Given the description of an element on the screen output the (x, y) to click on. 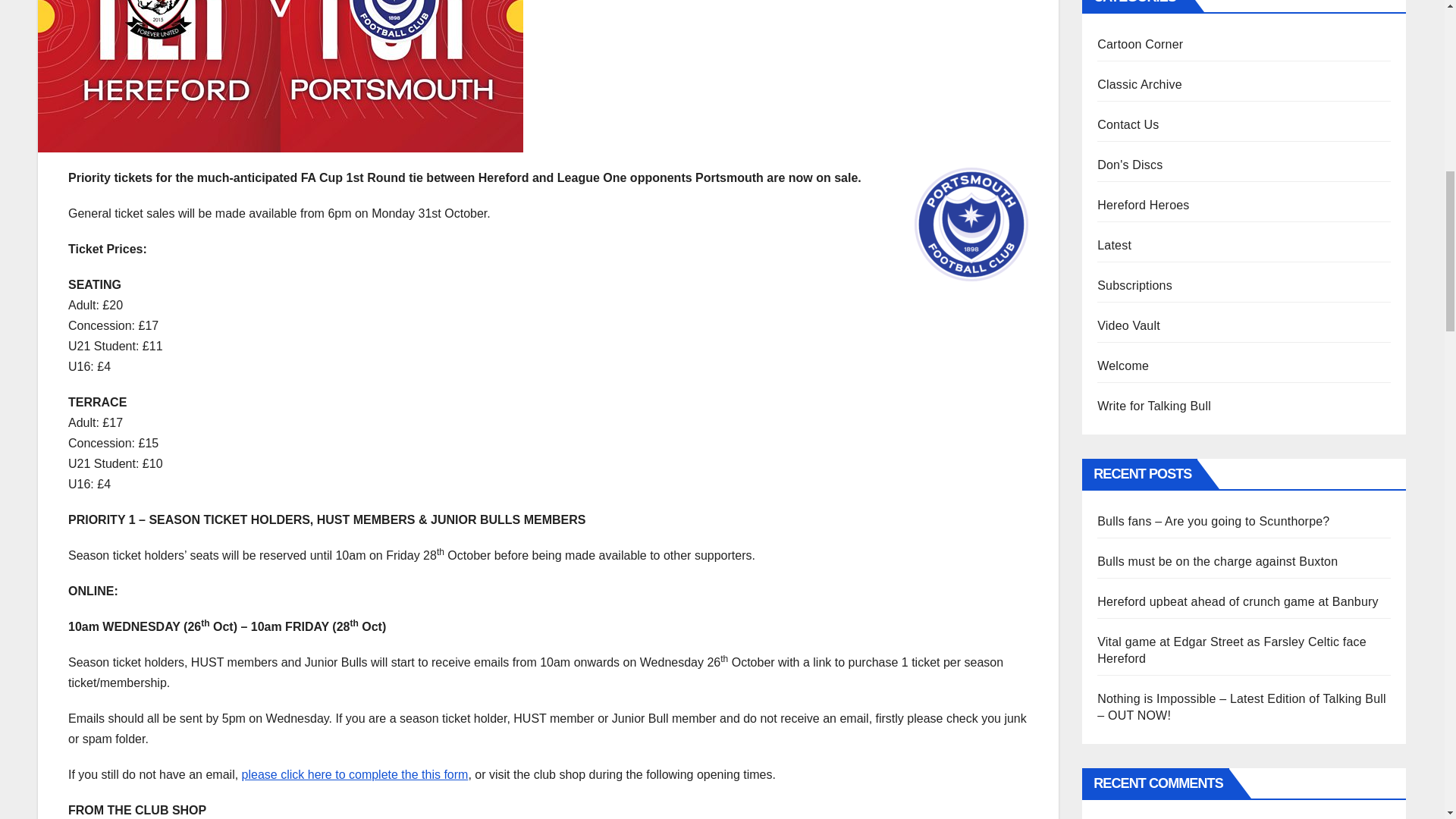
please click here to complete the this form (354, 774)
